Given the description of an element on the screen output the (x, y) to click on. 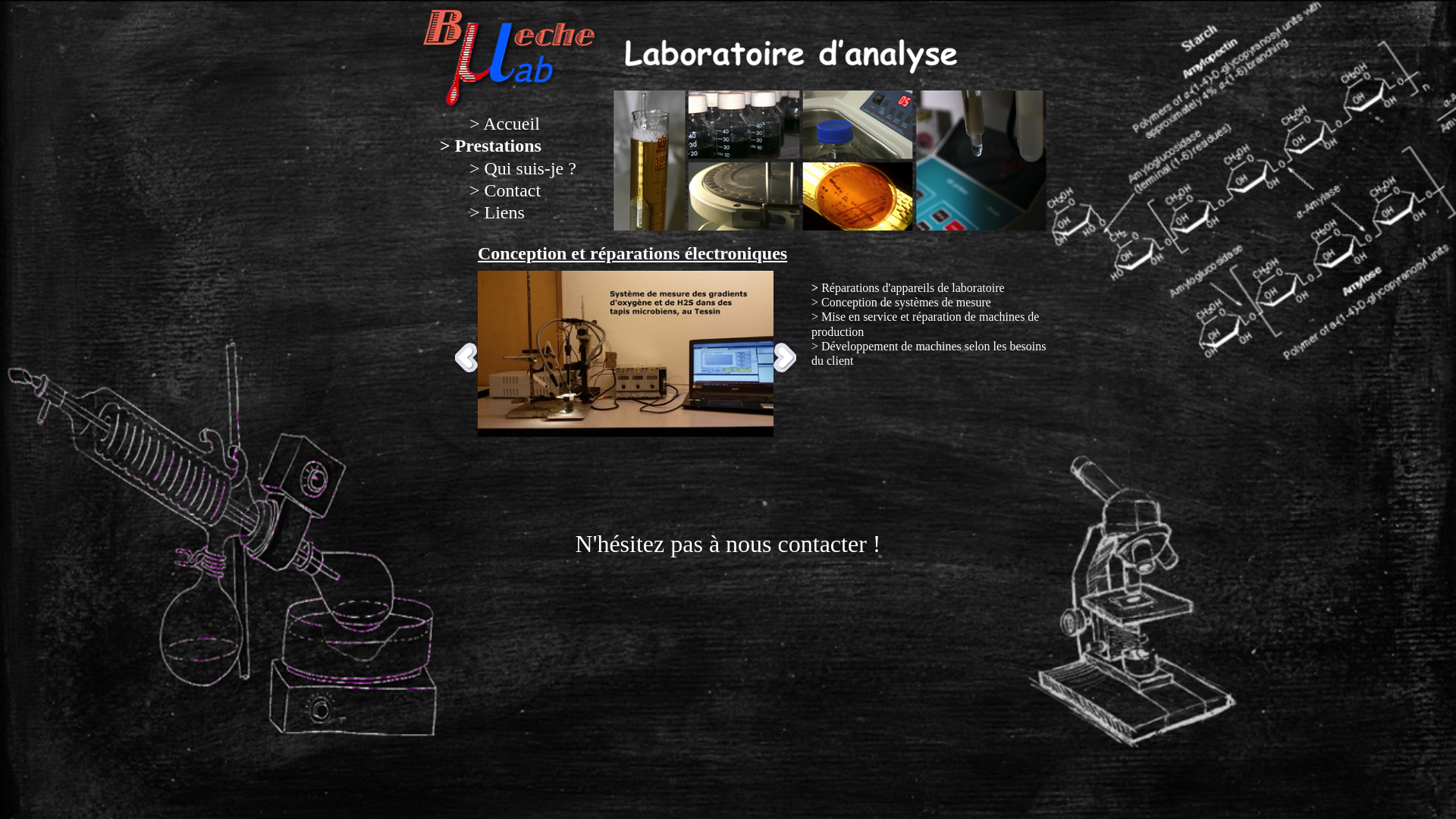
> Accueil Element type: text (504, 123)
> Qui suis-je ? Element type: text (522, 168)
> Liens Element type: text (496, 212)
> Prestations Element type: text (490, 145)
20170711_085400.jpg Element type: hover (625, 353)
> Contact Element type: text (504, 190)
